Given the description of an element on the screen output the (x, y) to click on. 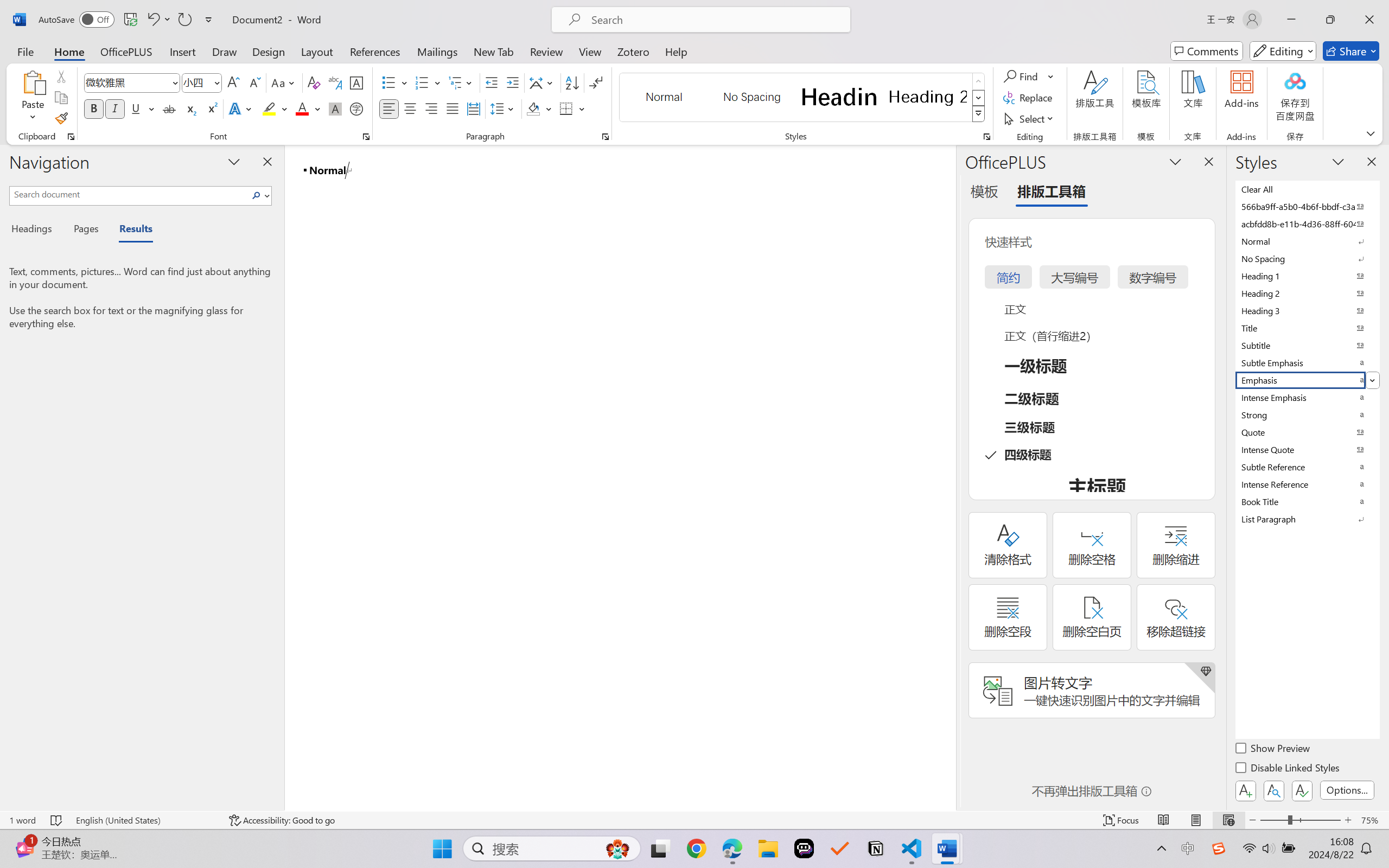
Superscript (210, 108)
Align Right (431, 108)
Emphasis (1306, 379)
Class: NetUIScrollBar (948, 477)
Results (130, 229)
Pages (85, 229)
Customize Quick Access Toolbar (208, 19)
Close (1369, 19)
Find (1022, 75)
Quote (1306, 431)
Search document (128, 193)
